Given the description of an element on the screen output the (x, y) to click on. 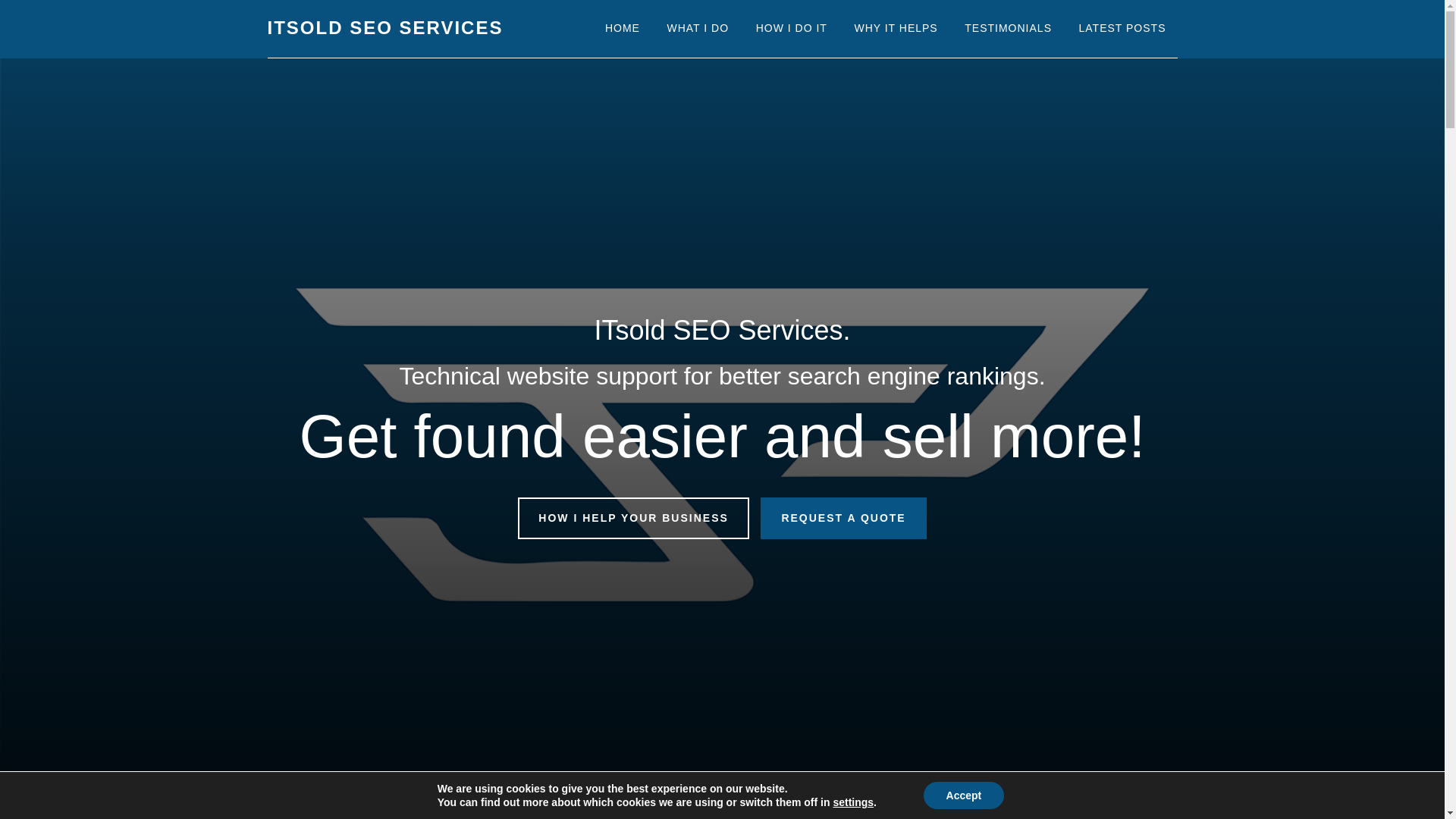
settings (852, 802)
Accept (963, 795)
WHY IT HELPS (896, 28)
WHAT I DO (697, 28)
REQUEST A QUOTE (843, 517)
Request a free audit repair quote now! (843, 517)
Learn more about how I can help you (633, 517)
HOW I HELP YOUR BUSINESS (633, 517)
TESTIMONIALS (1007, 28)
ITSOLD SEO SERVICES (384, 27)
HOME (622, 28)
LATEST POSTS (1122, 28)
HOW I DO IT (791, 28)
